Given the description of an element on the screen output the (x, y) to click on. 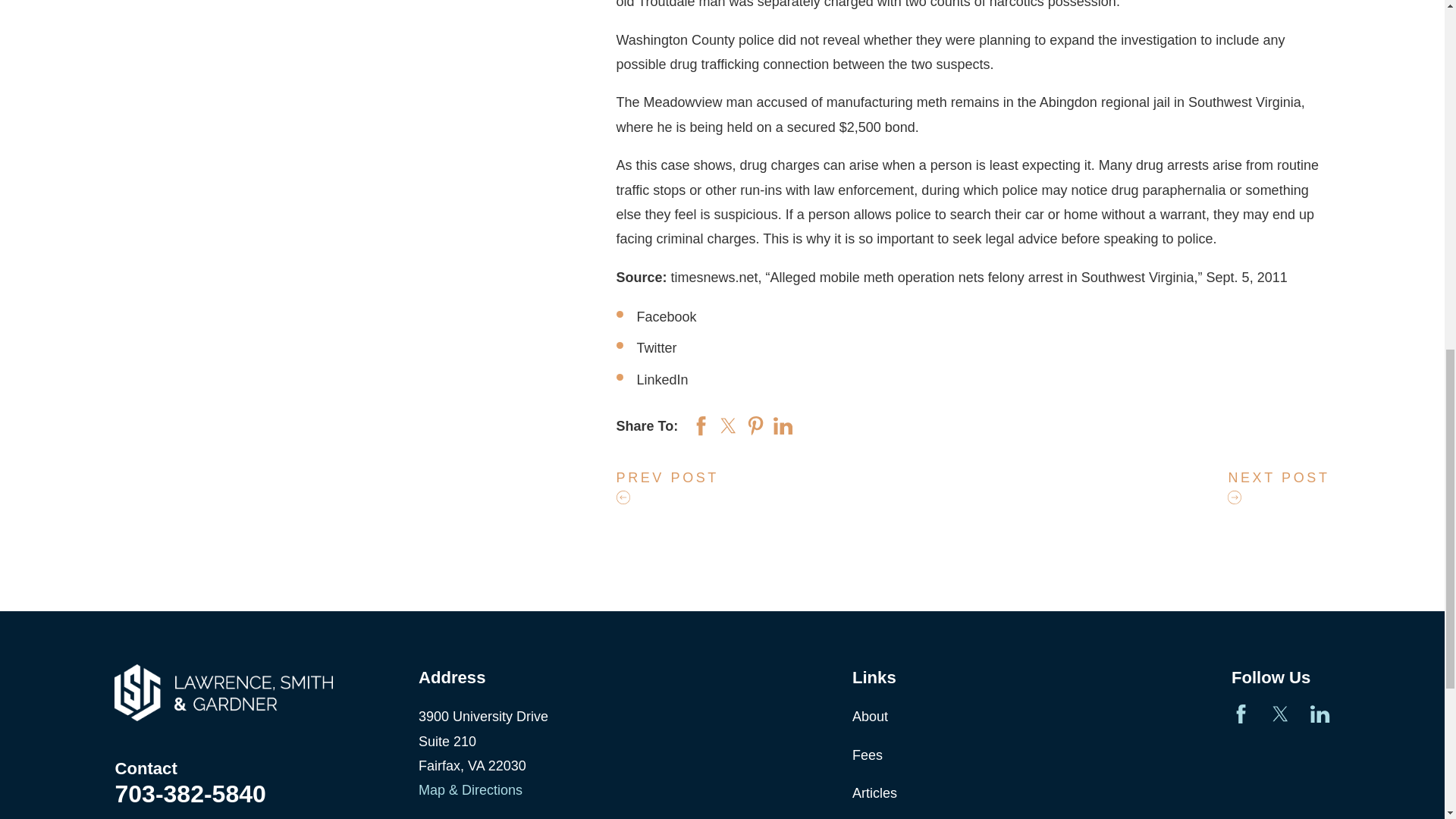
LinkedIn (1319, 713)
Home (224, 692)
Twitter (1280, 713)
Facebook (1240, 713)
